Given the description of an element on the screen output the (x, y) to click on. 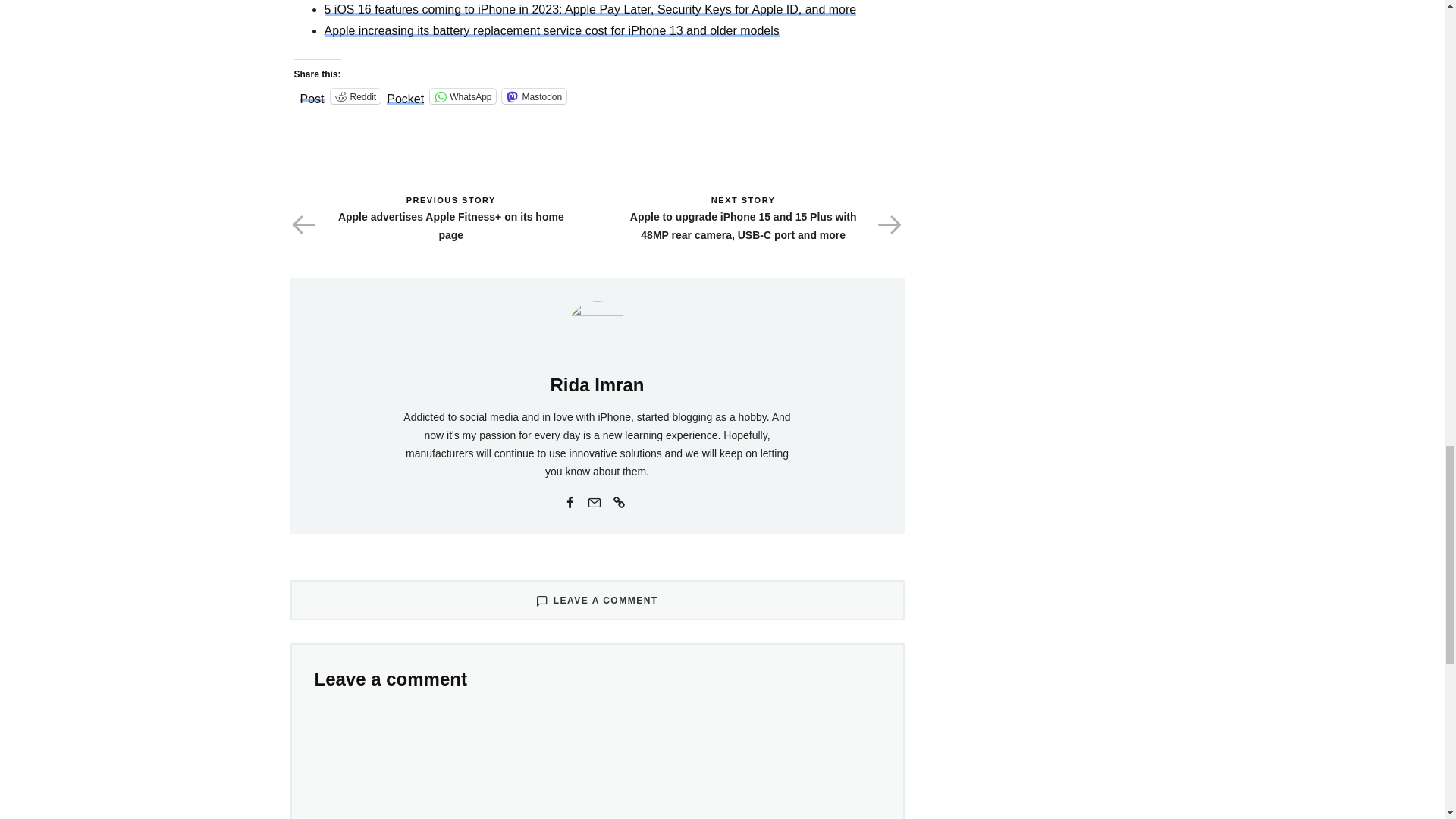
Follow me on Facebook (569, 501)
Rida Imran (596, 384)
Rida Imran (597, 330)
Visit my site (618, 501)
Click to share on Mastodon (534, 96)
Click to share on WhatsApp (462, 96)
Click to share on Reddit (355, 96)
Send me an email! (594, 501)
